Given the description of an element on the screen output the (x, y) to click on. 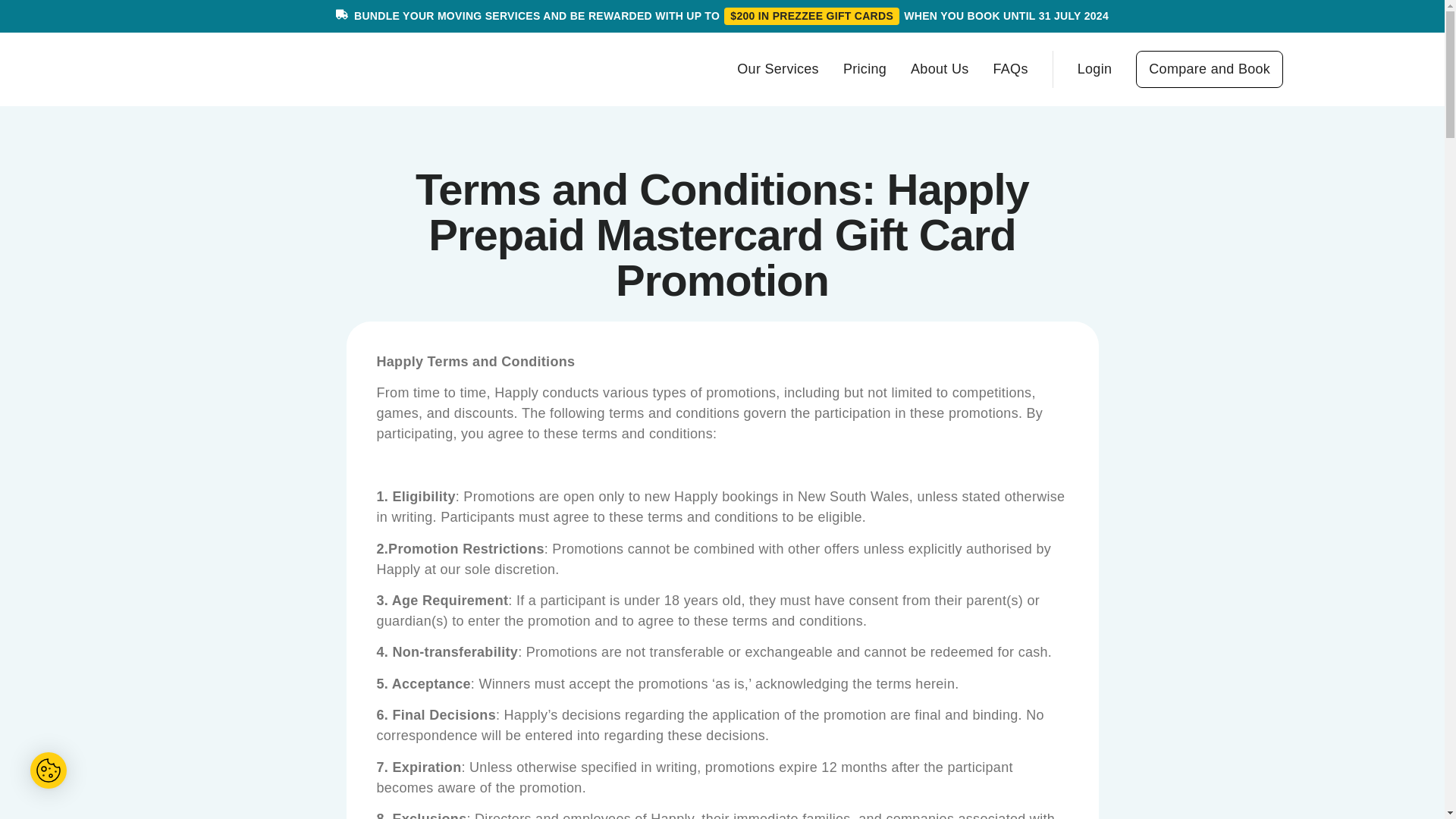
Compare and Book (1208, 68)
About Us (939, 68)
Pricing (864, 68)
Login (1094, 68)
FAQs (1009, 68)
Our Services (777, 68)
